Given the description of an element on the screen output the (x, y) to click on. 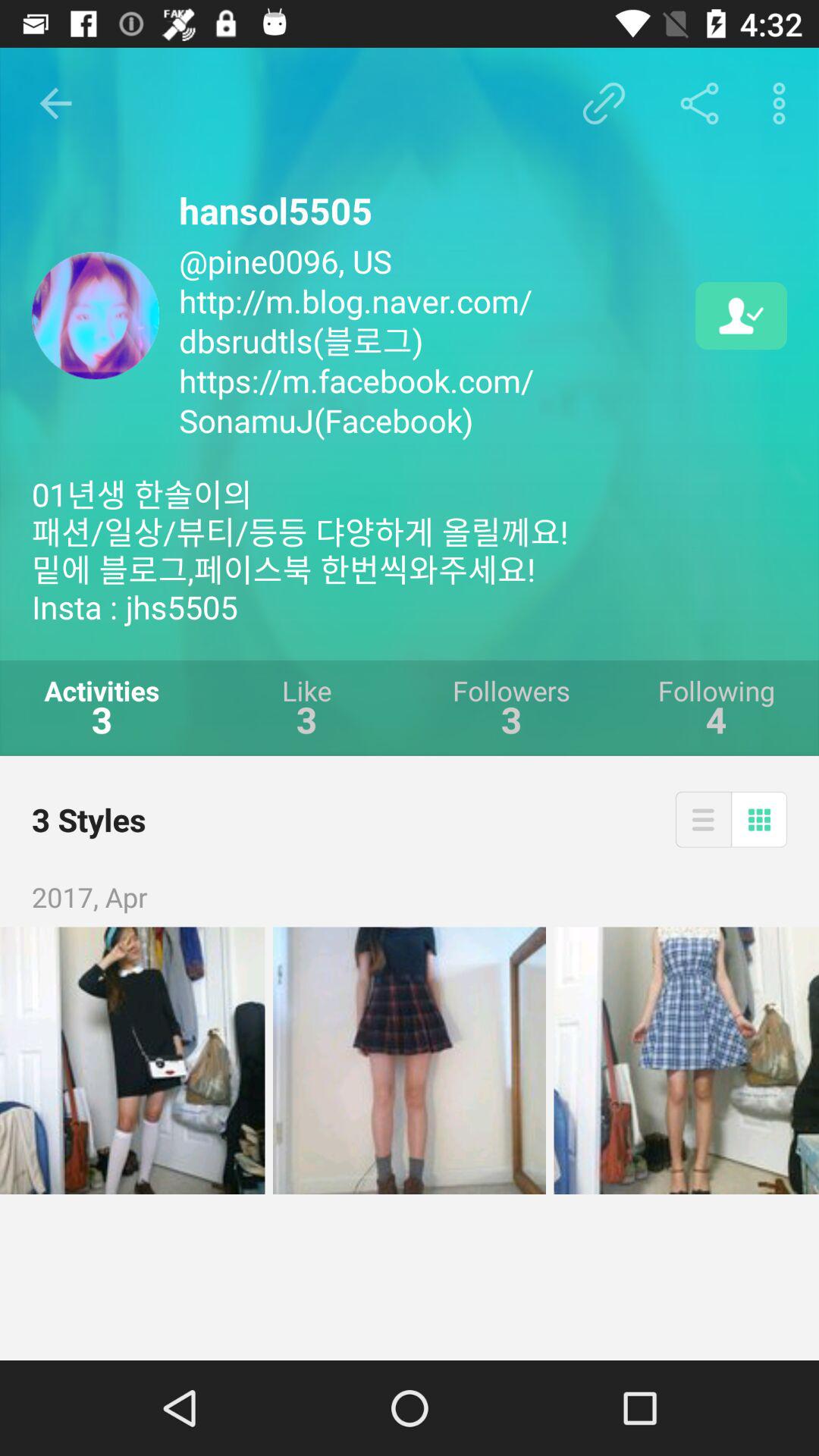
follow the user (741, 315)
